Given the description of an element on the screen output the (x, y) to click on. 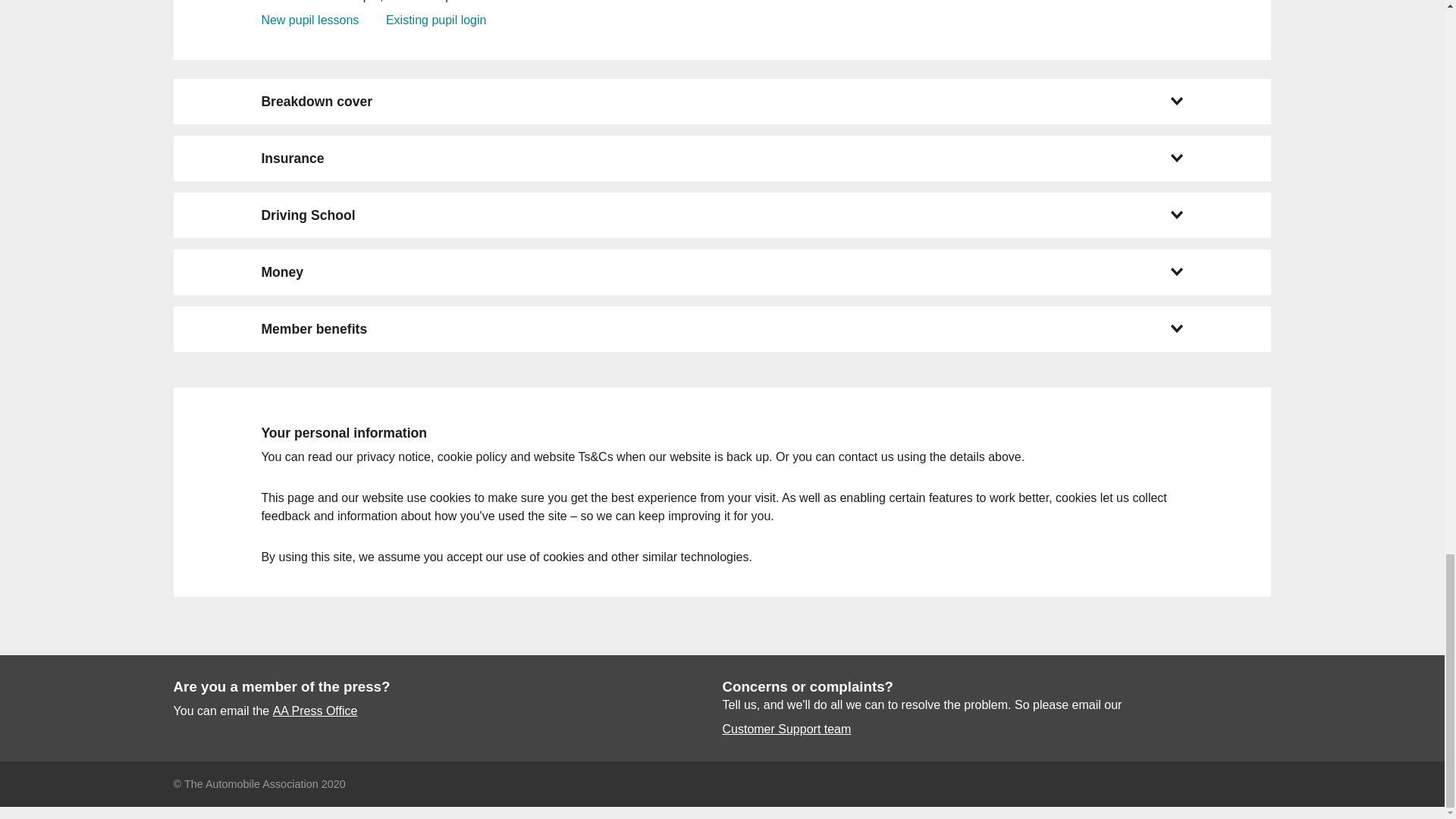
AA Press Office (315, 710)
Customer Support team (786, 729)
New pupil lessons (309, 20)
Existing pupil login (435, 20)
